Given the description of an element on the screen output the (x, y) to click on. 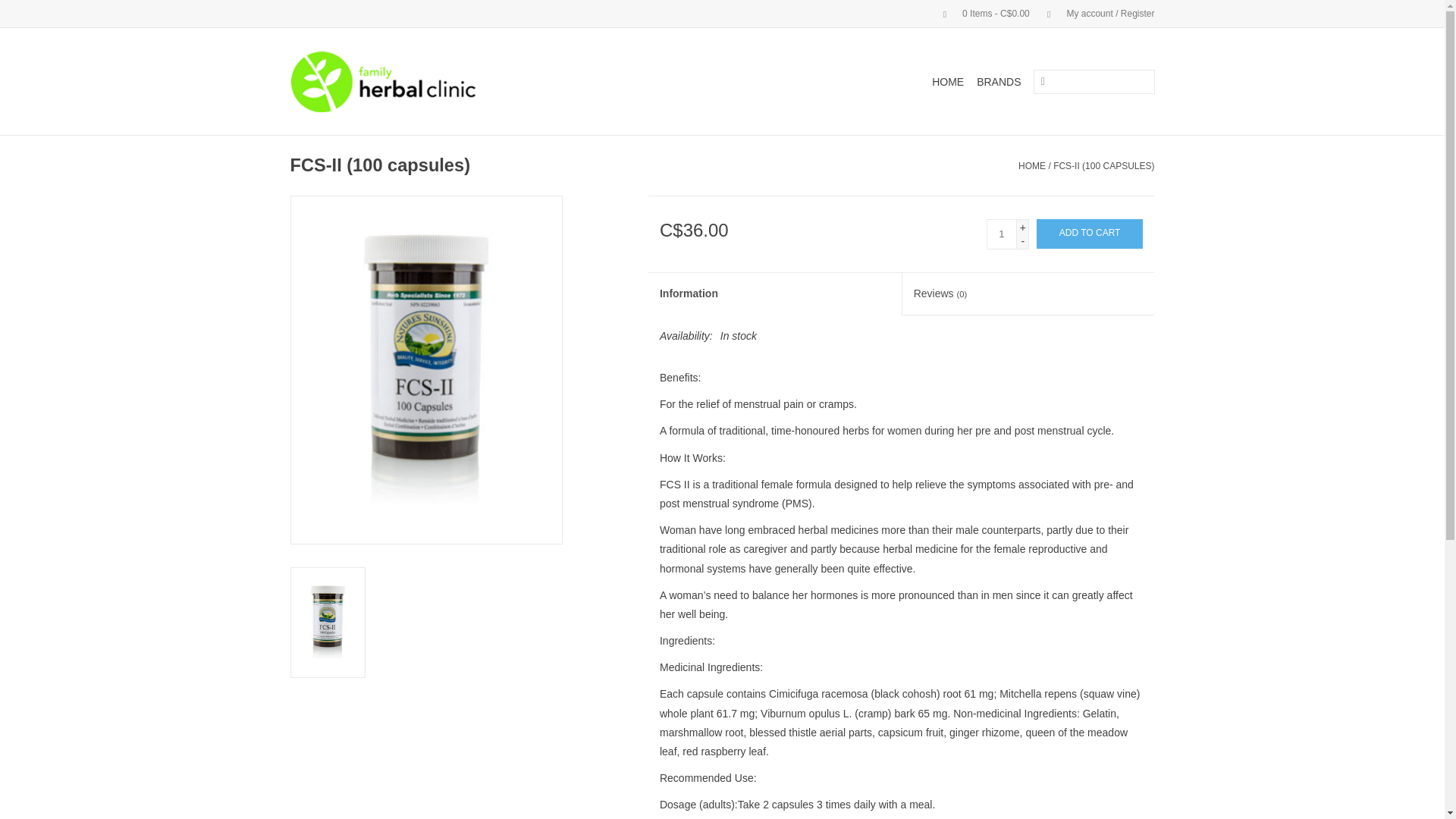
1 (1001, 234)
Home (1031, 165)
ADD TO CART (1089, 233)
HOME (947, 81)
BRANDS (998, 81)
- (1022, 240)
Information (774, 293)
HOME (1031, 165)
Brands (998, 81)
My account (1093, 13)
